Given the description of an element on the screen output the (x, y) to click on. 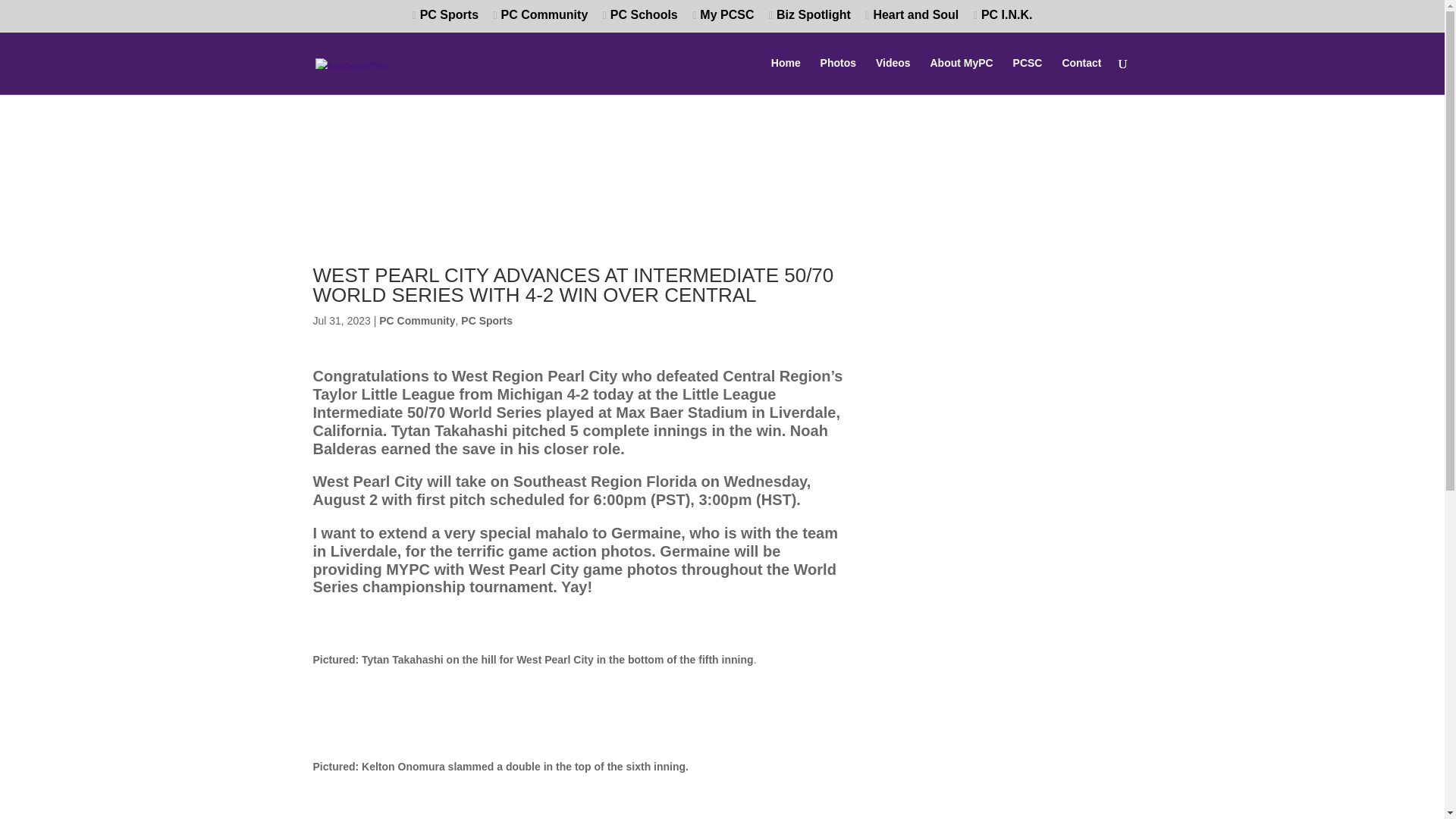
Contact (1080, 76)
Heart and Soul (911, 20)
PC Schools (640, 20)
PC Community (416, 320)
About MyPC (961, 76)
Biz Spotlight (809, 20)
PC Sports (445, 20)
PC I.N.K. (1003, 20)
My PCSC (723, 20)
PC Sports (486, 320)
Videos (893, 76)
Photos (838, 76)
PC Community (540, 20)
